Given the description of an element on the screen output the (x, y) to click on. 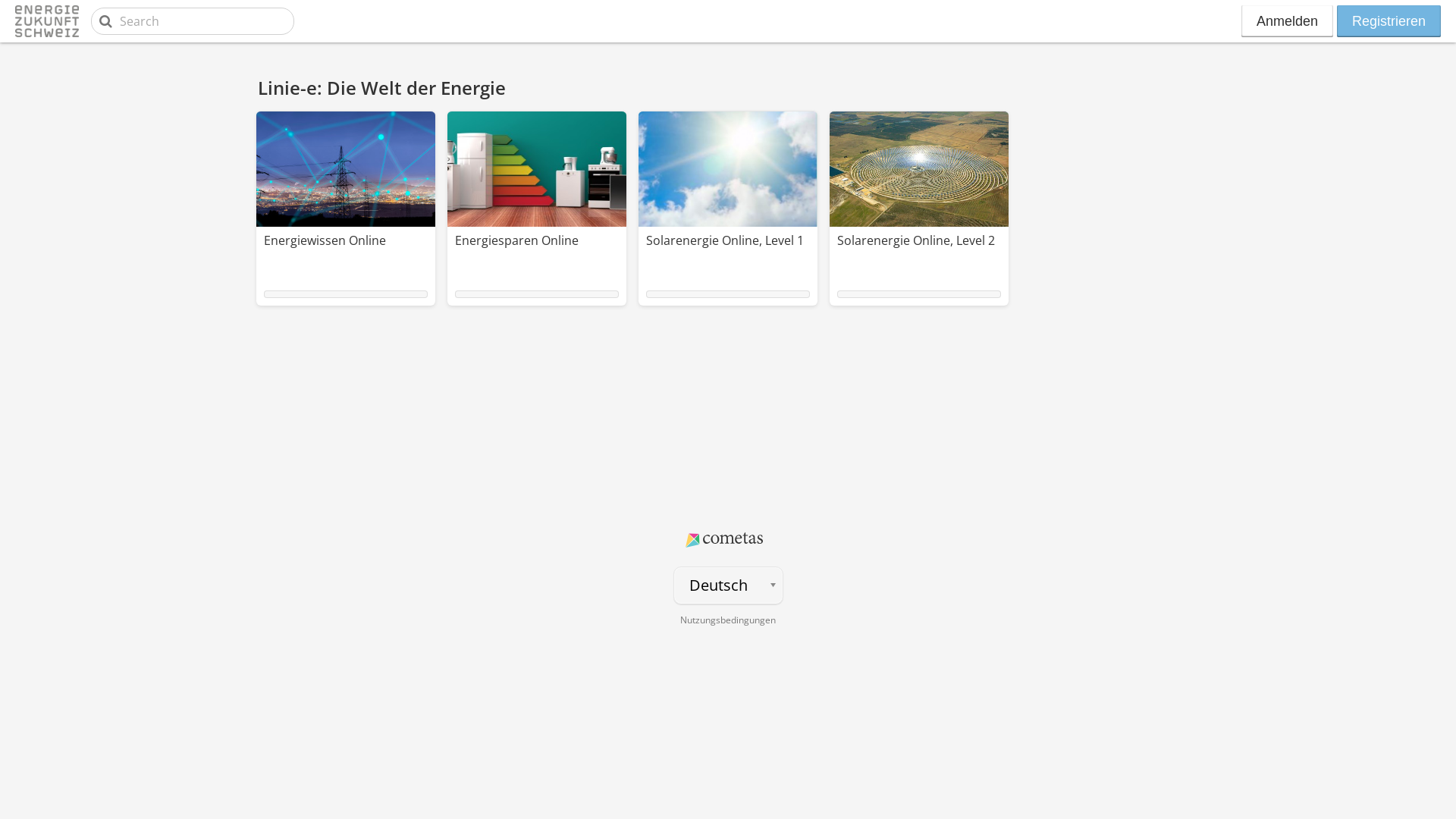
Anmelden Element type: text (1287, 21)
Registrieren Element type: text (1388, 21)
Nutzungsbedingungen Element type: text (727, 619)
Deutsch Element type: text (728, 585)
